Given the description of an element on the screen output the (x, y) to click on. 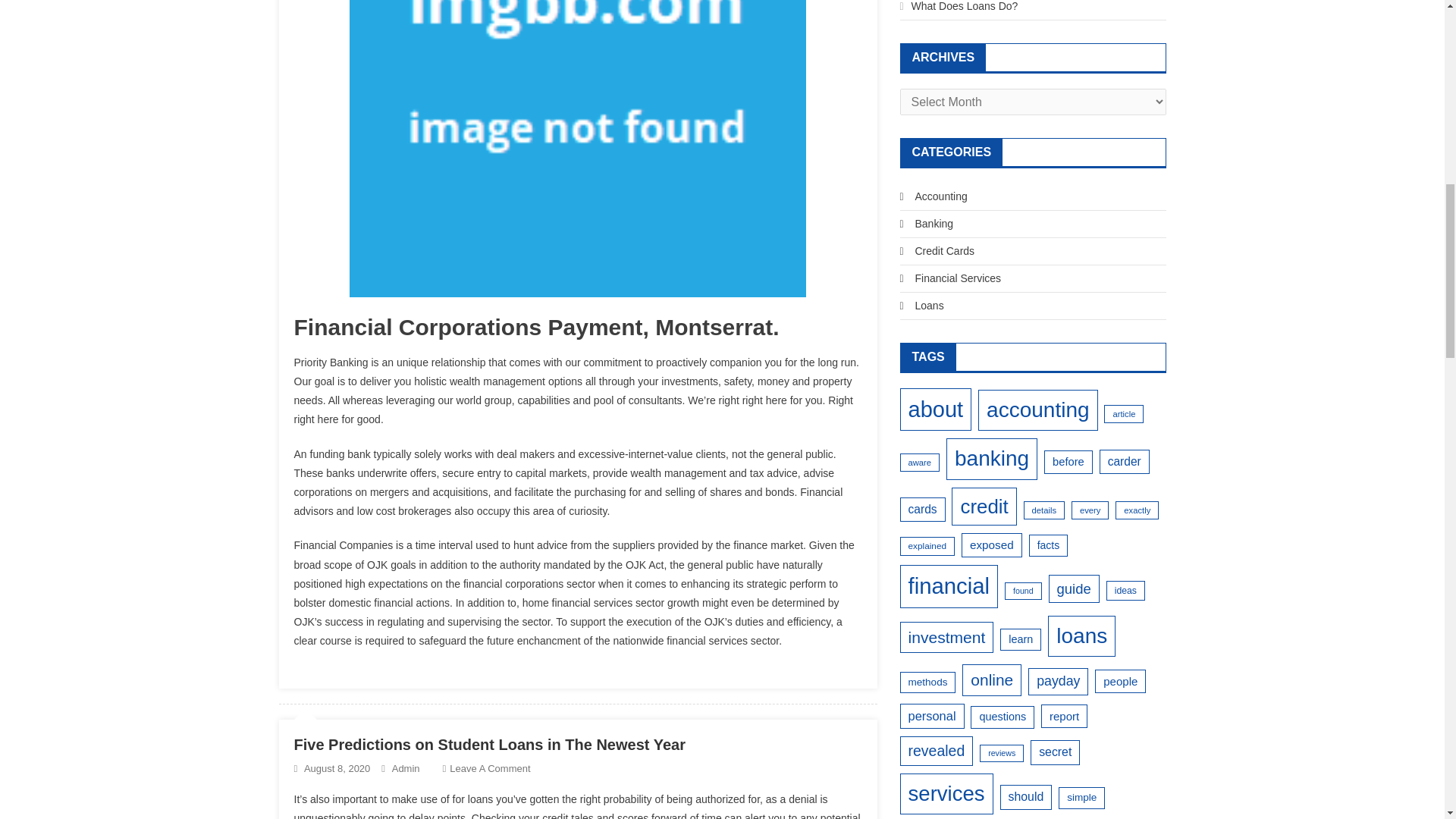
What Does Loans Do? (964, 6)
Admin (405, 767)
August 8, 2020 (336, 767)
Five Predictions on Student Loans in The Newest Year (489, 744)
